Given the description of an element on the screen output the (x, y) to click on. 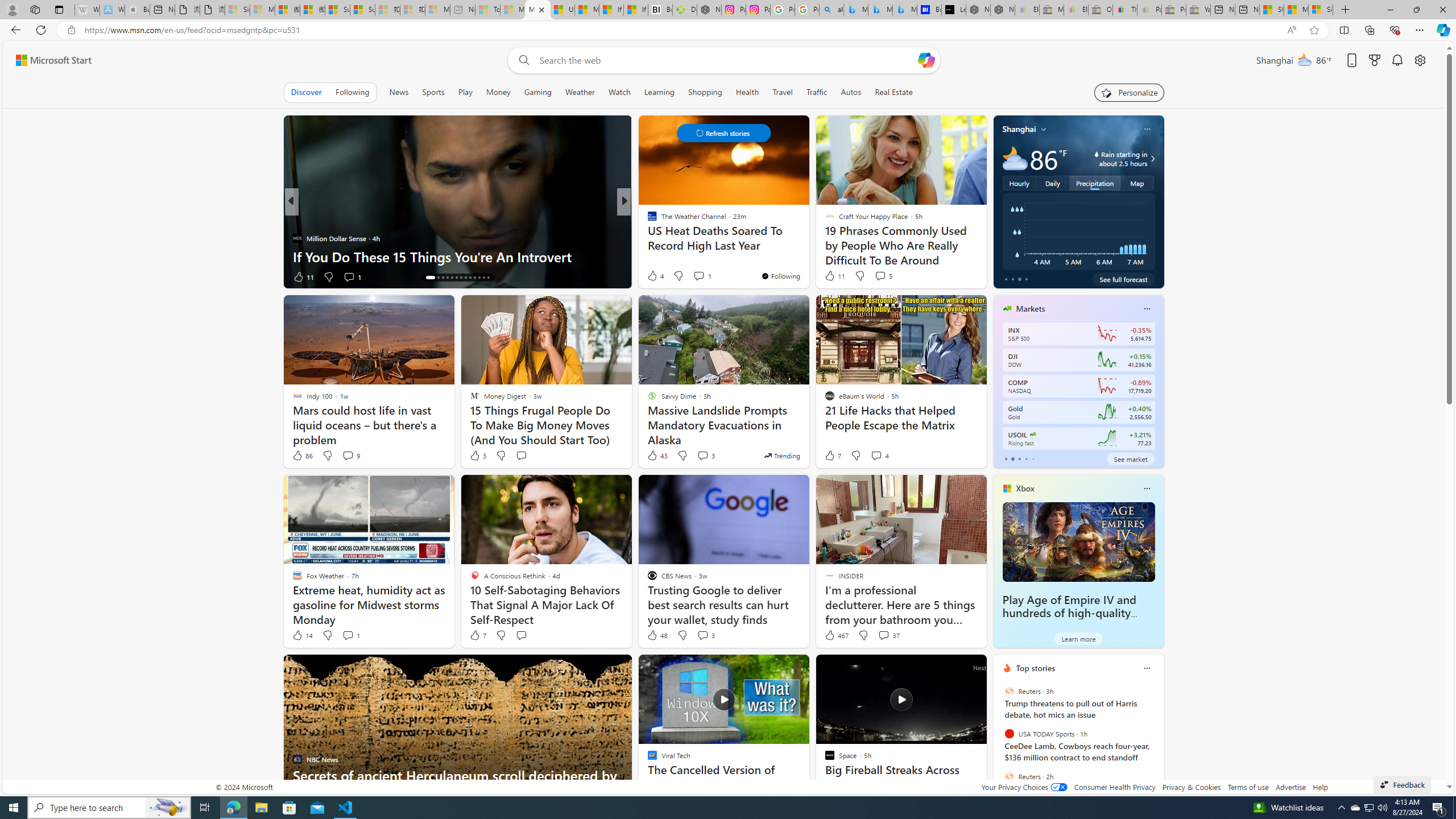
View comments 339 Comment (703, 276)
Hide this story (952, 668)
14 Quiet Ways People Get Revenge (807, 256)
516 Like (654, 276)
Sign in to your Microsoft account - Sleeping (236, 9)
AutomationID: tab-21 (465, 277)
289 Like (654, 276)
